Given the description of an element on the screen output the (x, y) to click on. 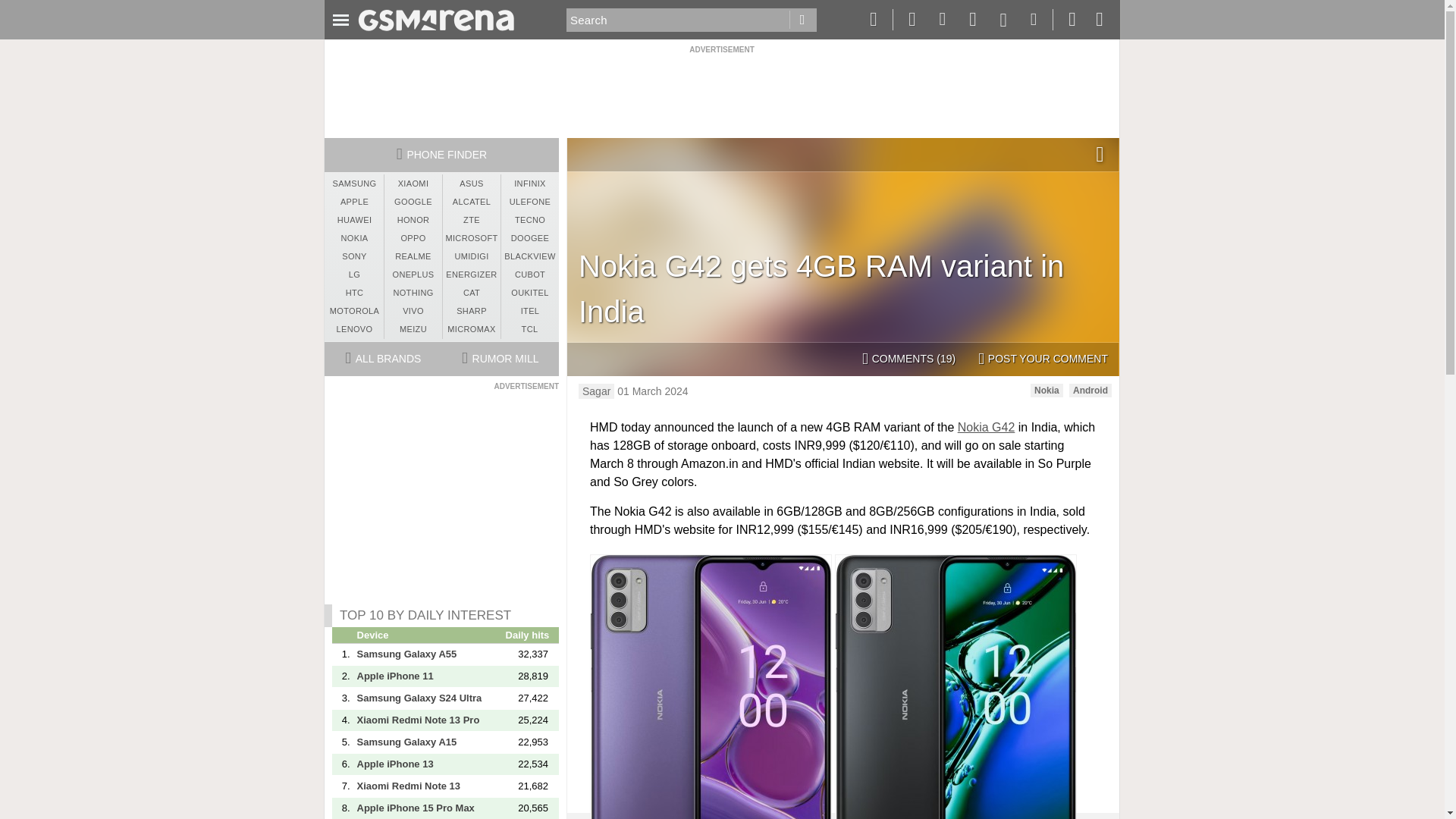
Nokia (1046, 390)
Sagar (596, 391)
Nokia G42 (986, 427)
Android (1090, 390)
Go (802, 19)
Go (802, 19)
POST YOUR COMMENT (1042, 359)
